Given the description of an element on the screen output the (x, y) to click on. 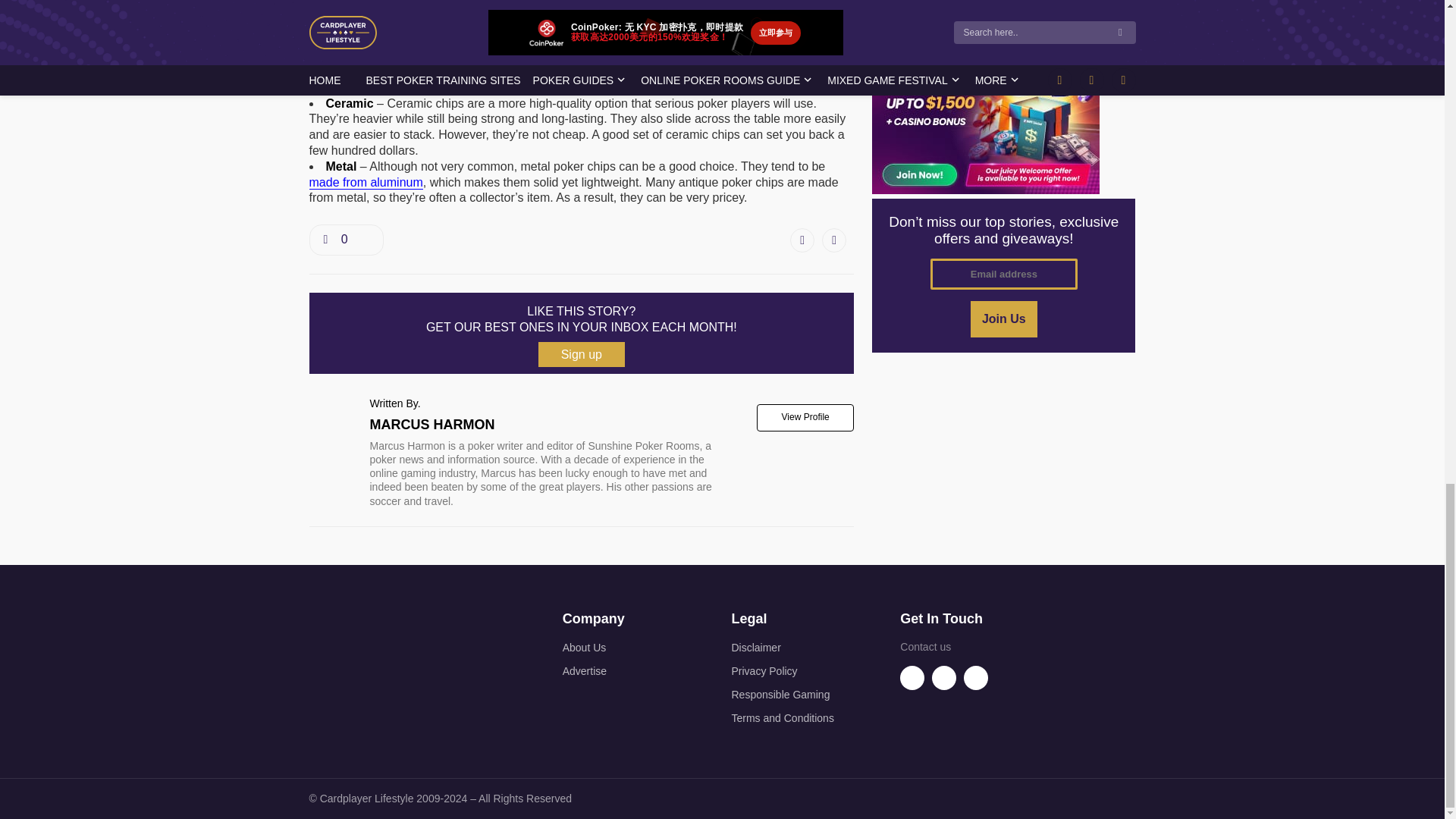
made from aluminum (365, 182)
Join Us (1003, 319)
